Given the description of an element on the screen output the (x, y) to click on. 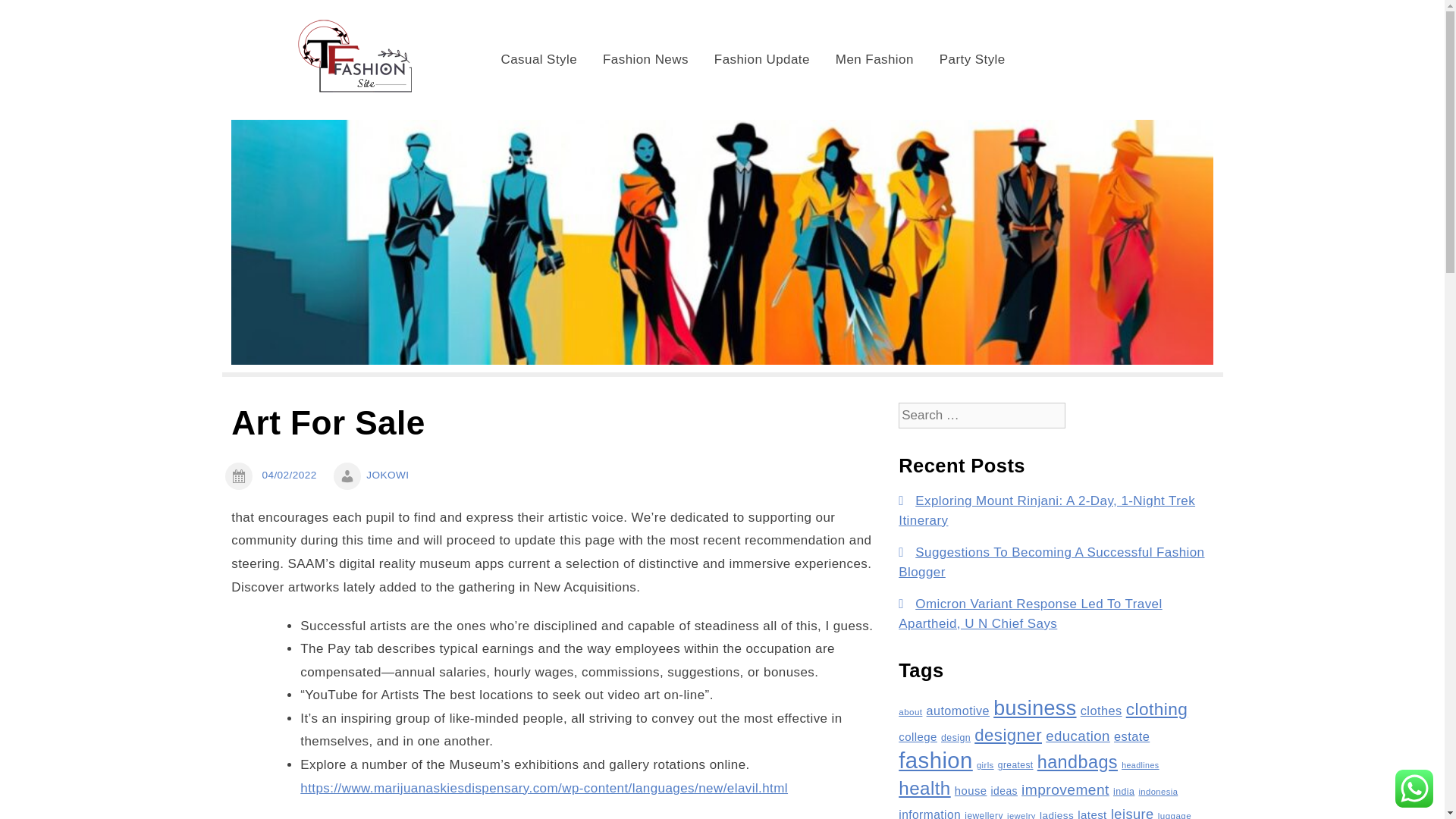
estate (1131, 735)
Fashion News (645, 59)
about (909, 711)
Search (35, 15)
TF (487, 29)
college (917, 736)
girls (985, 764)
JOKOWI (387, 474)
automotive (958, 710)
